Given the description of an element on the screen output the (x, y) to click on. 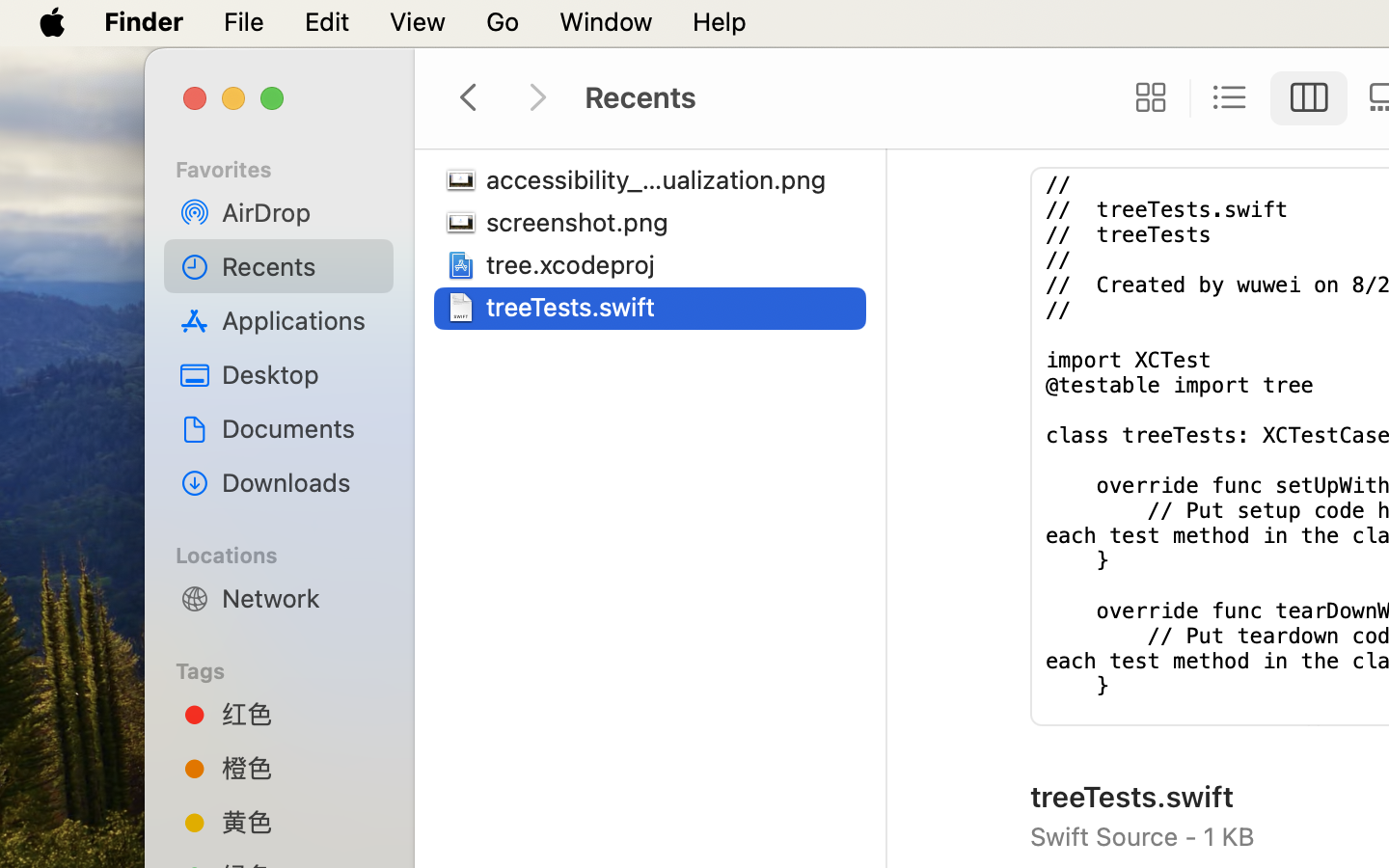
AirDrop Element type: AXStaticText (299, 211)
橙色 Element type: AXStaticText (299, 767)
1 Element type: AXRadioButton (1308, 97)
treeTests.swift Element type: AXTextField (574, 306)
Recents Element type: AXStaticText (299, 265)
